Given the description of an element on the screen output the (x, y) to click on. 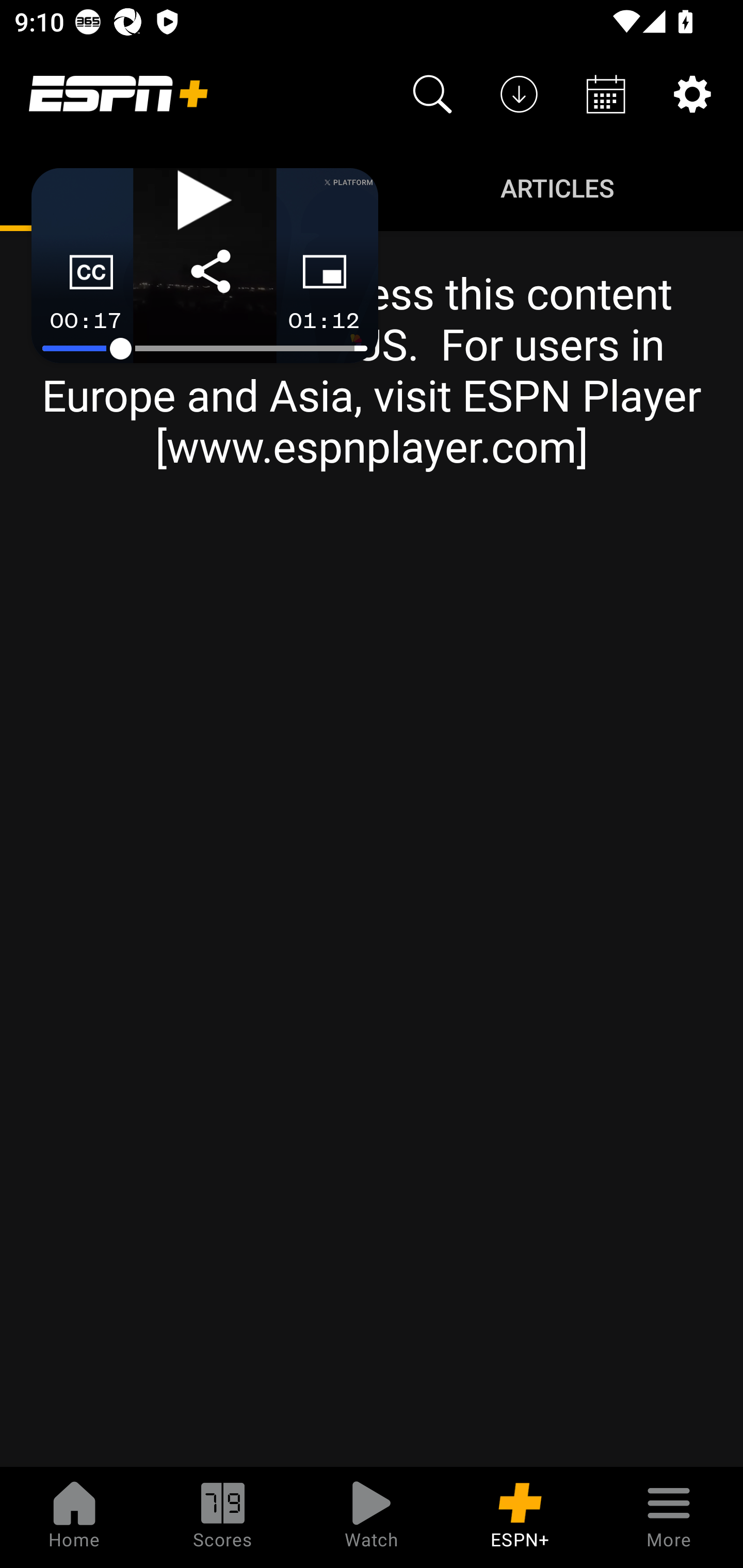
Search (432, 93)
Downloads (518, 93)
Schedule (605, 93)
Settings (692, 93)
Articles ARTICLES (557, 187)
Home (74, 1517)
Scores (222, 1517)
Watch (371, 1517)
More (668, 1517)
